Given the description of an element on the screen output the (x, y) to click on. 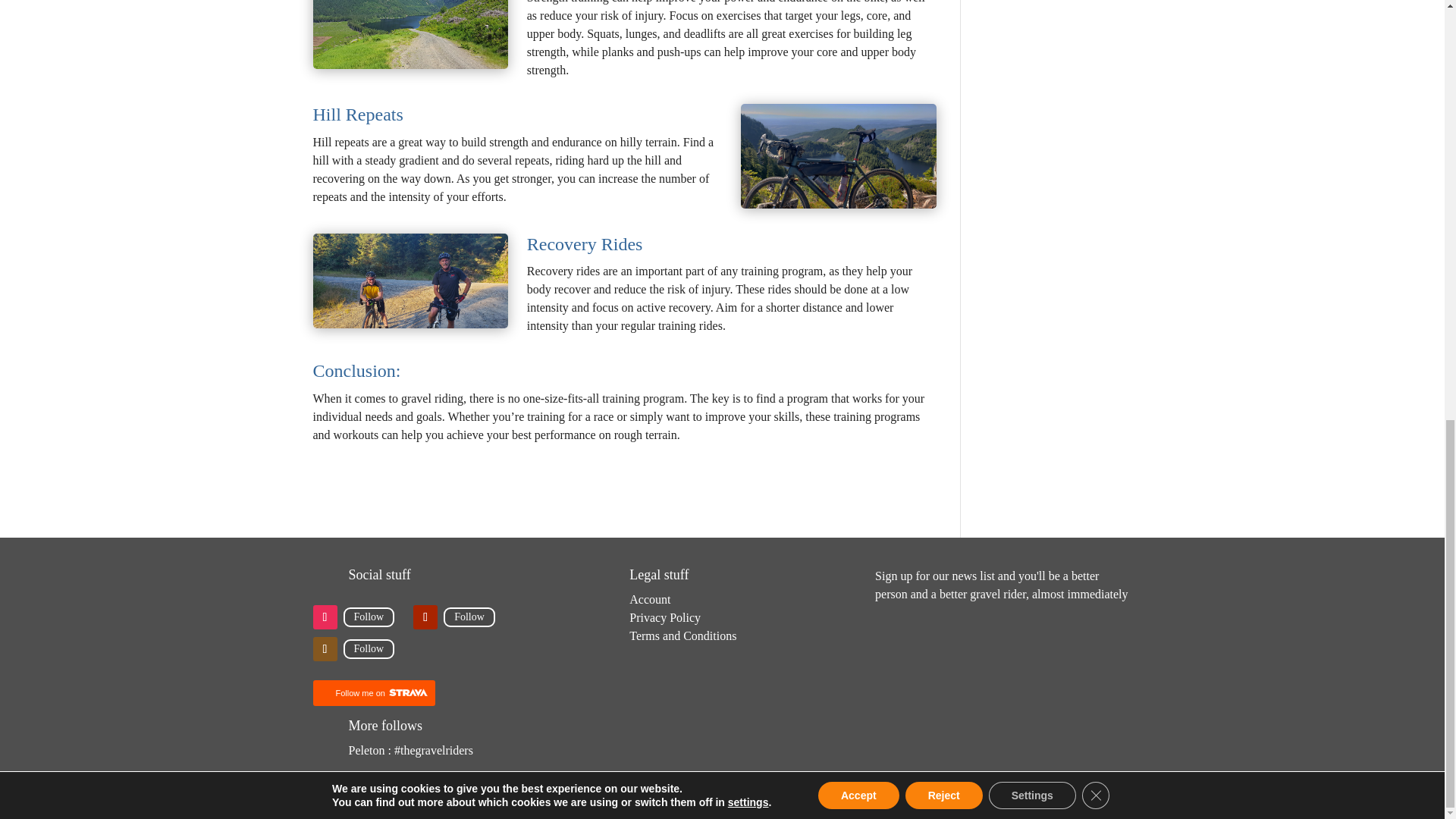
Instagram (368, 617)
Account (648, 599)
Follow (368, 649)
Terms and Conditions (682, 635)
RSS (368, 649)
Follow on RSS (324, 648)
Follow on Instagram (324, 617)
the-gravel-riders-campbell-global-lake-hancock (410, 34)
Youtube (469, 617)
thegravelriders (466, 780)
Follow me on (373, 692)
Follow (469, 617)
Follow (368, 617)
vaast-the-gravel-riders-gravel-machine-7 (838, 156)
Privacy Policy (664, 617)
